Given the description of an element on the screen output the (x, y) to click on. 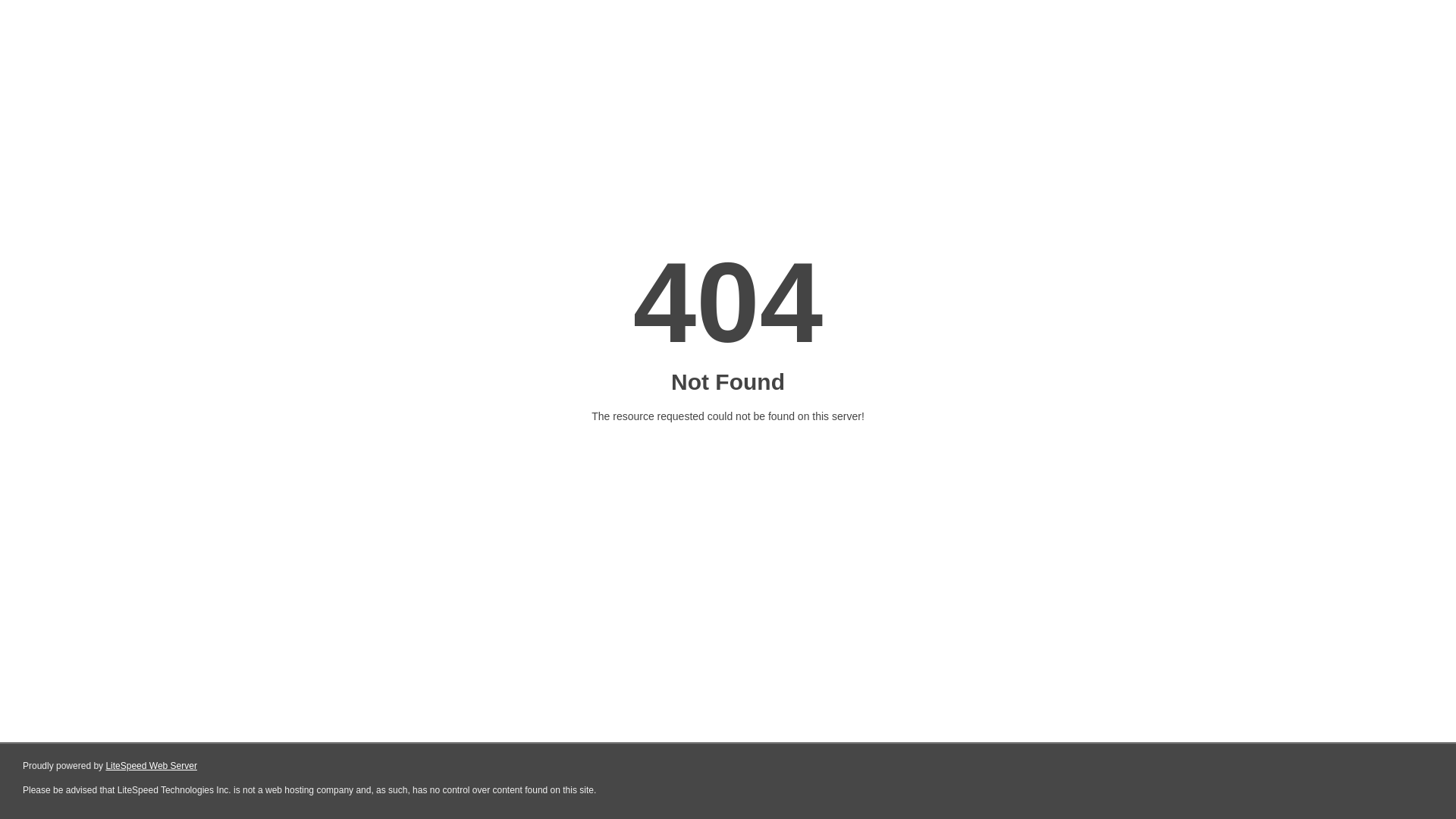
LiteSpeed Web Server Element type: text (151, 765)
